Given the description of an element on the screen output the (x, y) to click on. 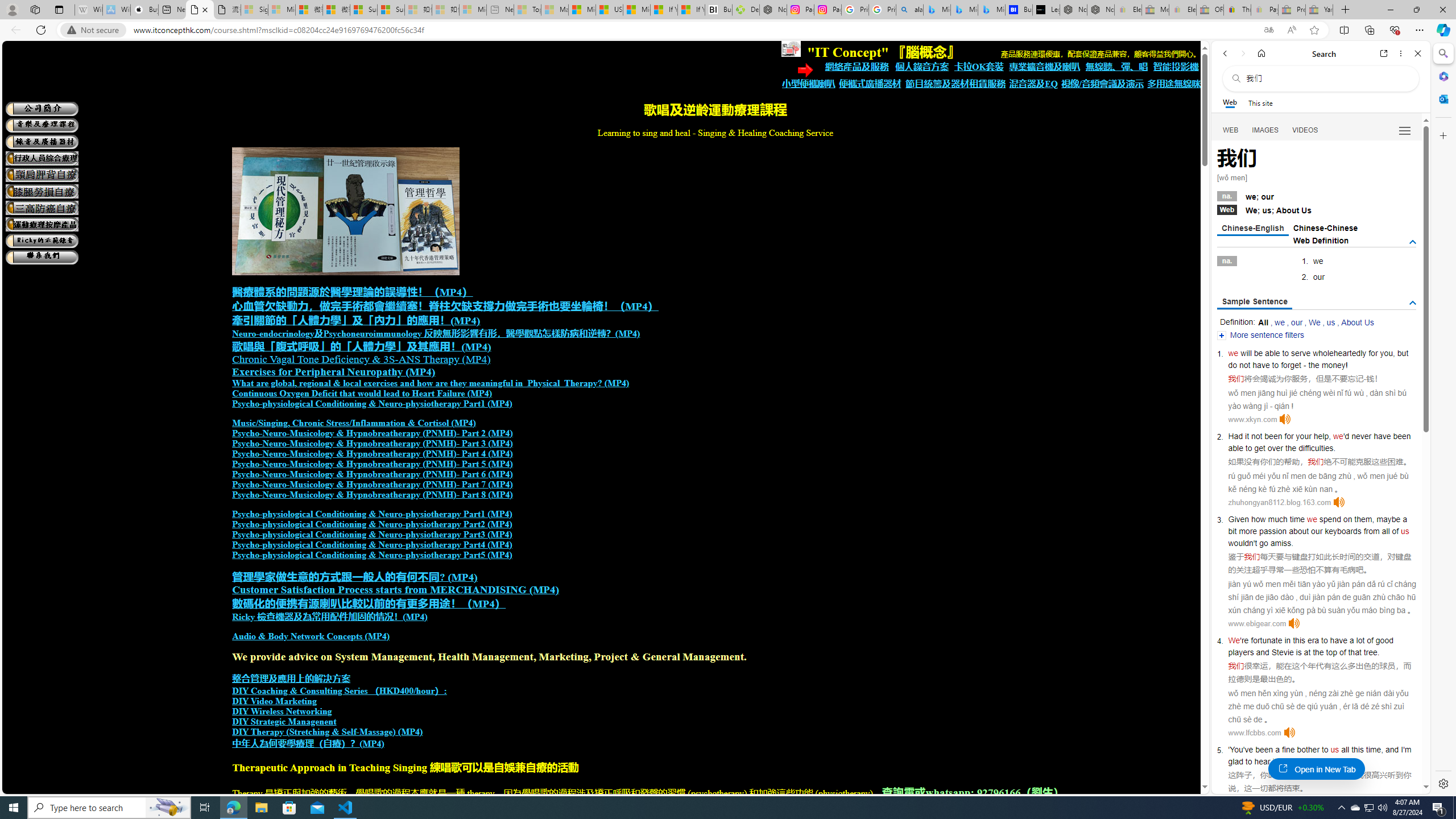
good (1384, 640)
Side bar (1443, 418)
your (1303, 435)
alabama high school quarterback dies - Search (909, 9)
of (1395, 530)
our (1296, 322)
Payments Terms of Use | eBay.com - Sleeping (1264, 9)
